Given the description of an element on the screen output the (x, y) to click on. 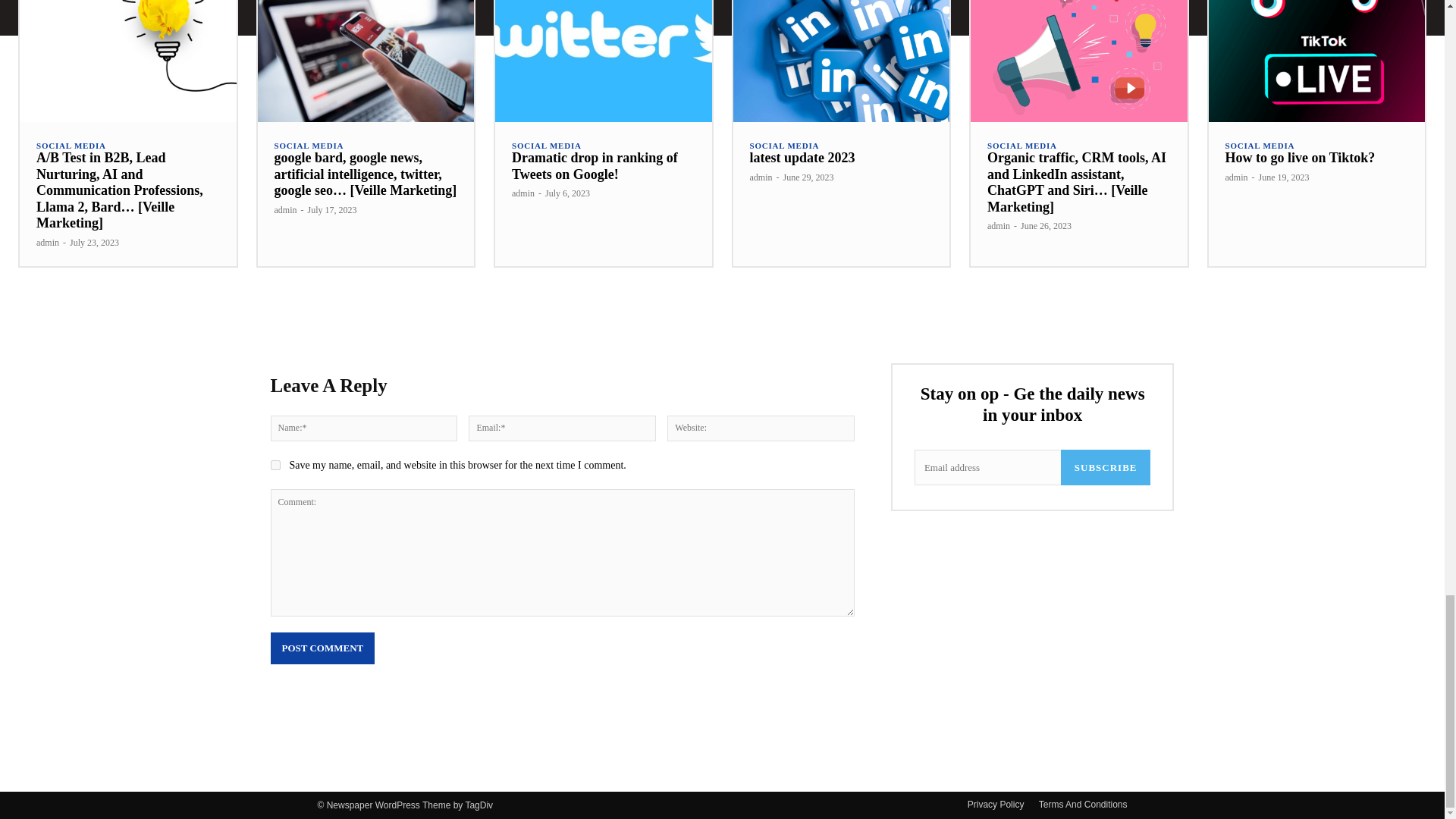
yes (274, 465)
Post Comment (321, 648)
